Given the description of an element on the screen output the (x, y) to click on. 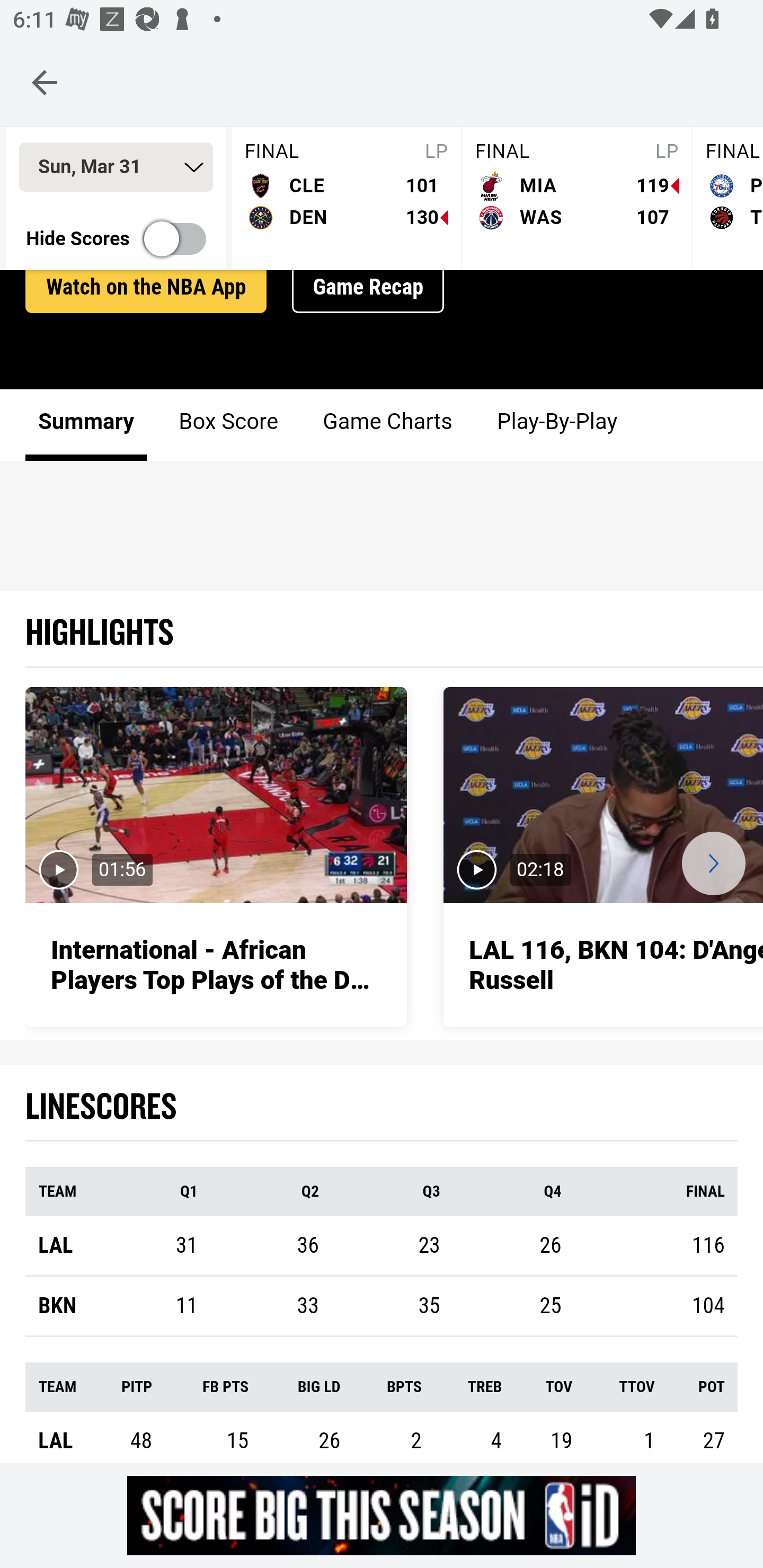
Navigate up (44, 82)
Sun, Mar 31 (115, 168)
Watch on the NBA App (146, 289)
Game Recap (367, 289)
Summary Summary Summary (86, 426)
Box Score Box Score Box Score (228, 426)
Game Charts Game Charts Game Charts (387, 426)
Play-By-Play Play-By-Play Play-By-Play (556, 426)
Carousel Button (713, 865)
g5nqqygr7owph (381, 1515)
